Given the description of an element on the screen output the (x, y) to click on. 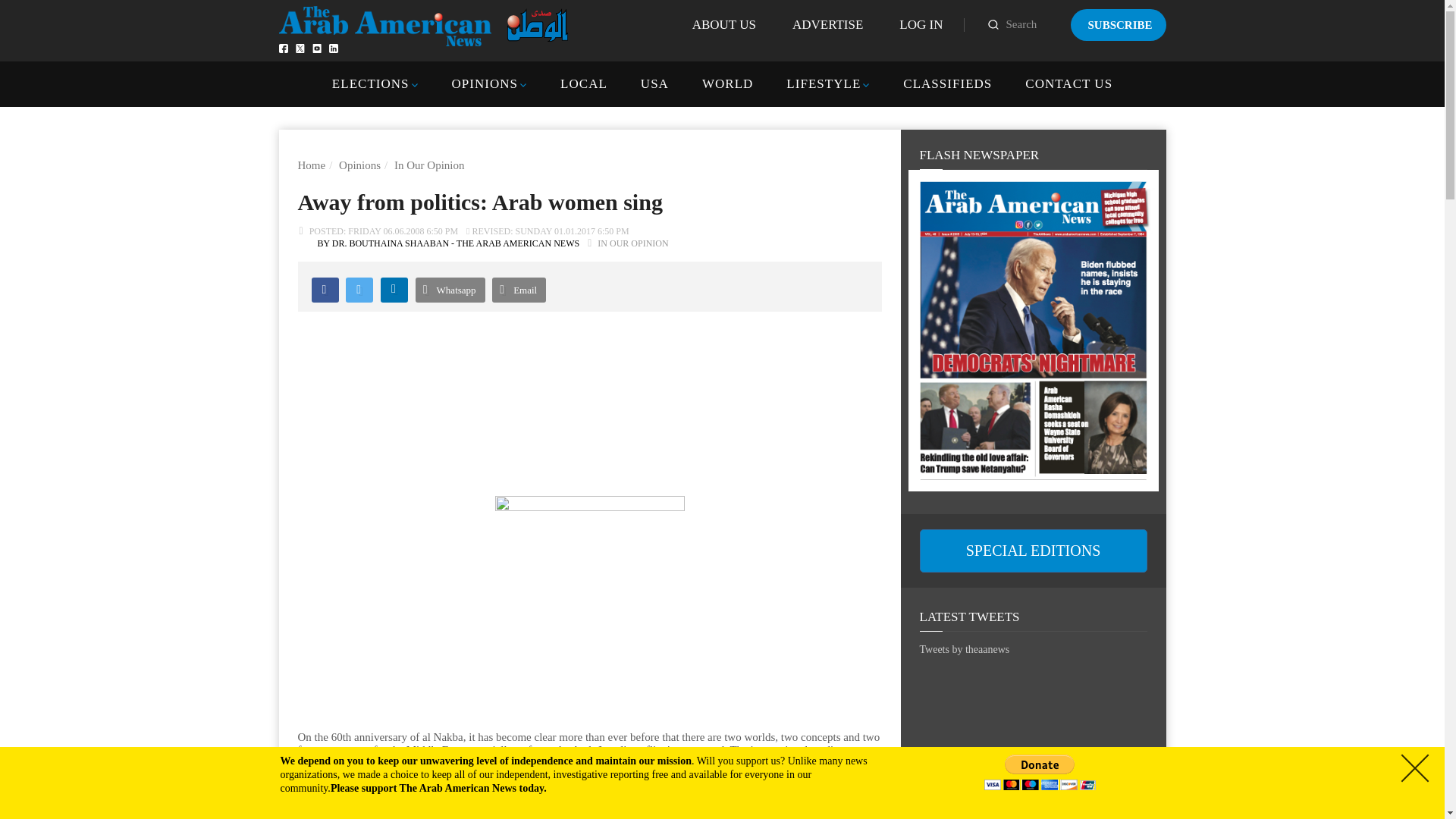
LOCAL (583, 83)
PayPal - The safer, easier way to pay online! (1040, 772)
USA (654, 83)
3rd party ad content (1032, 749)
WORLD (726, 83)
CONTACT US (1068, 83)
LIFESTYLE (823, 83)
CLASSIFIEDS (946, 83)
Home (310, 164)
ELECTIONS (370, 83)
In Our Opinion (429, 164)
3rd party ad content (588, 391)
LOG IN (920, 24)
OPINIONS (484, 83)
Opinions (359, 164)
